Given the description of an element on the screen output the (x, y) to click on. 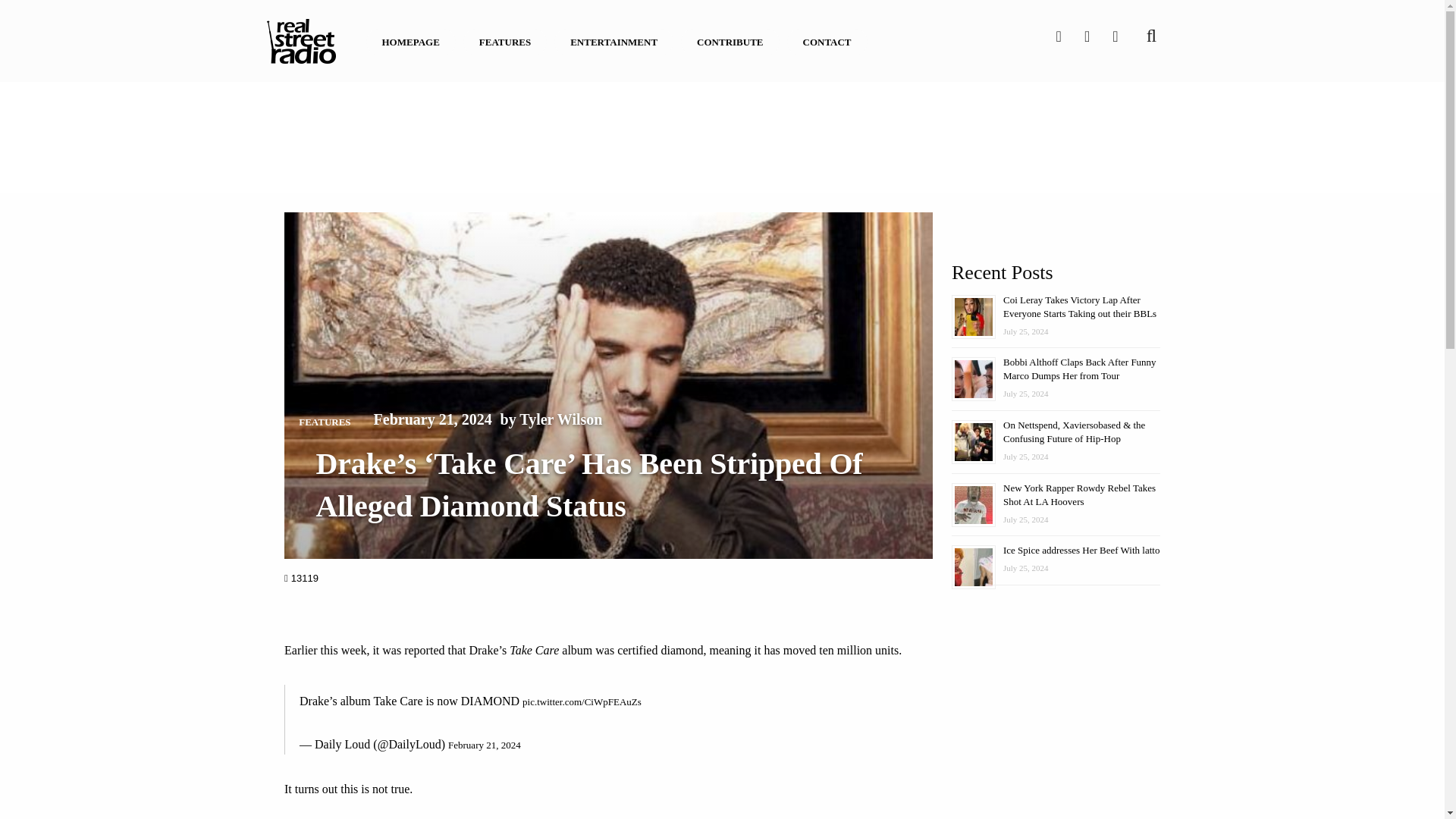
ENTERTAINMENT (613, 41)
HOMEPAGE (409, 41)
FEATURES (505, 41)
FEATURES (324, 421)
CONTRIBUTE (729, 41)
CONTACT (827, 41)
Advertisement (721, 134)
February 21, 2024 (484, 745)
New York Rapper Rowdy Rebel Takes Shot At LA Hoovers (1079, 494)
